Given the description of an element on the screen output the (x, y) to click on. 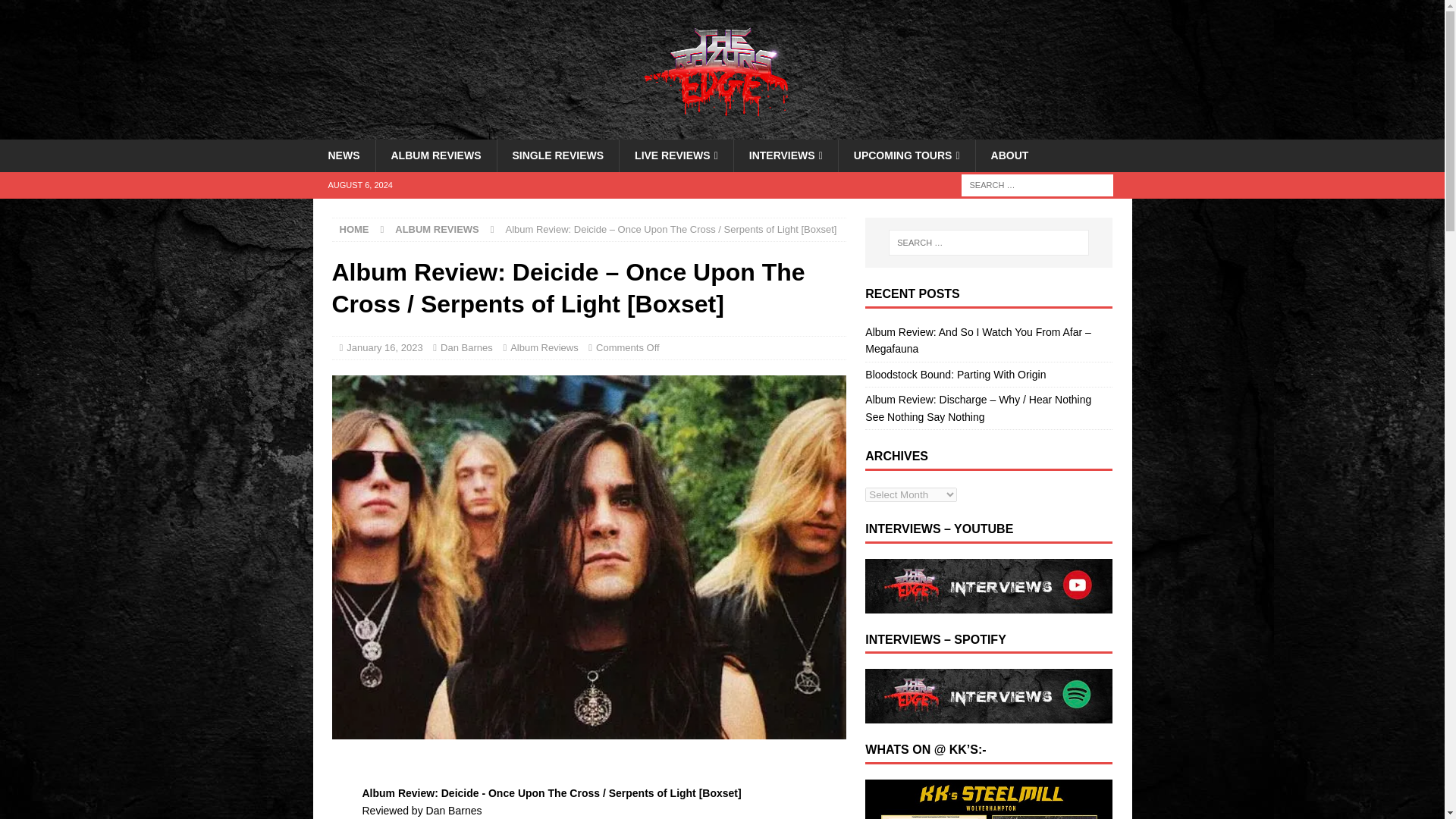
ALBUM REVIEWS (435, 155)
NEWS (343, 155)
Album Reviews (544, 347)
INTERVIEWS (785, 155)
SINGLE REVIEWS (557, 155)
Dan Barnes (467, 347)
HOME (354, 229)
ALBUM REVIEWS (436, 229)
ABOUT (1009, 155)
UPCOMING TOURS (906, 155)
January 16, 2023 (384, 347)
Search (56, 11)
LIVE REVIEWS (675, 155)
